Given the description of an element on the screen output the (x, y) to click on. 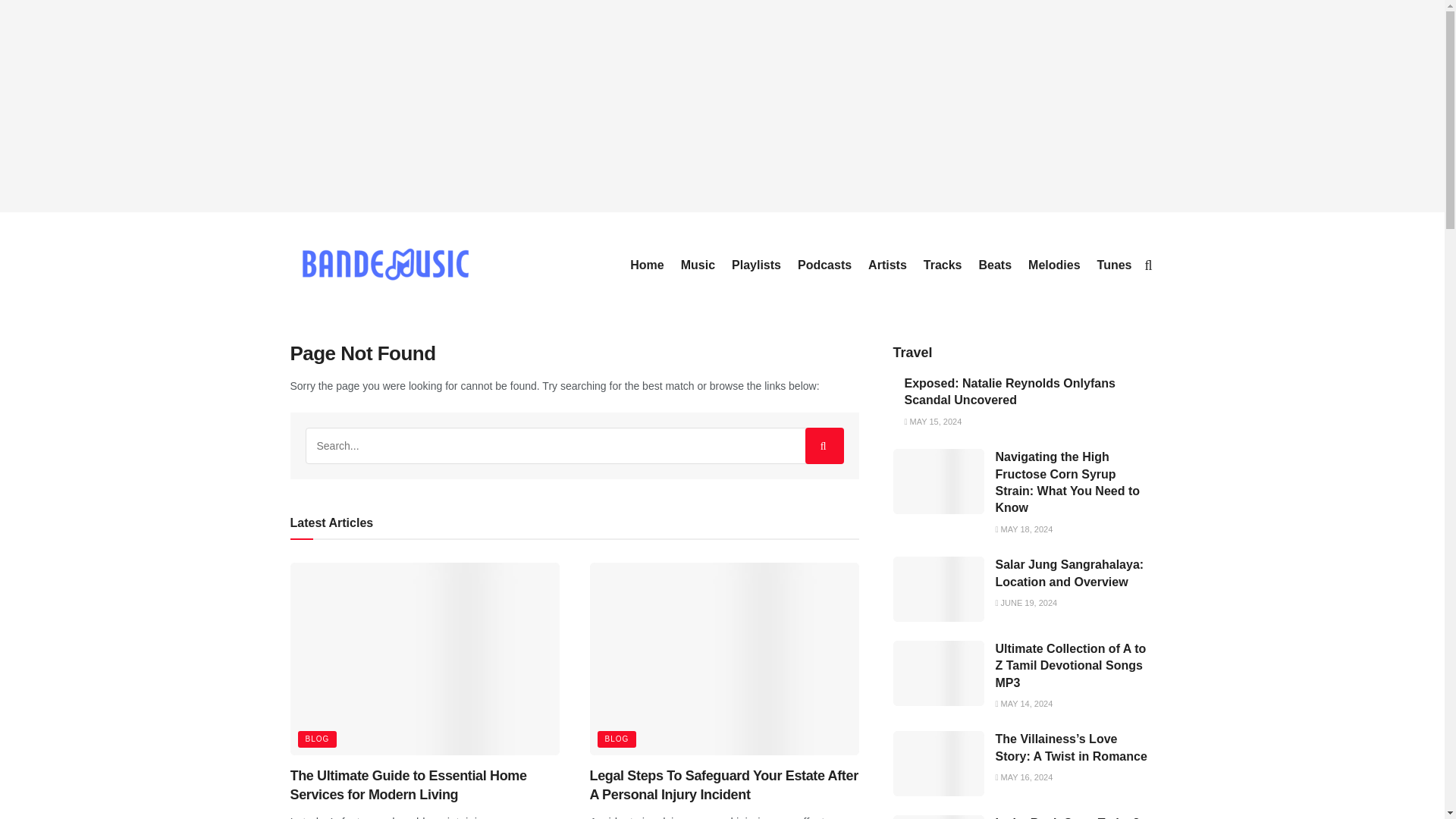
Melodies (1053, 265)
Artists (887, 265)
Playlists (756, 265)
Podcasts (824, 265)
Music (697, 265)
Tracks (942, 265)
Tunes (1114, 265)
BLOG (616, 739)
BLOG (316, 739)
